Given the description of an element on the screen output the (x, y) to click on. 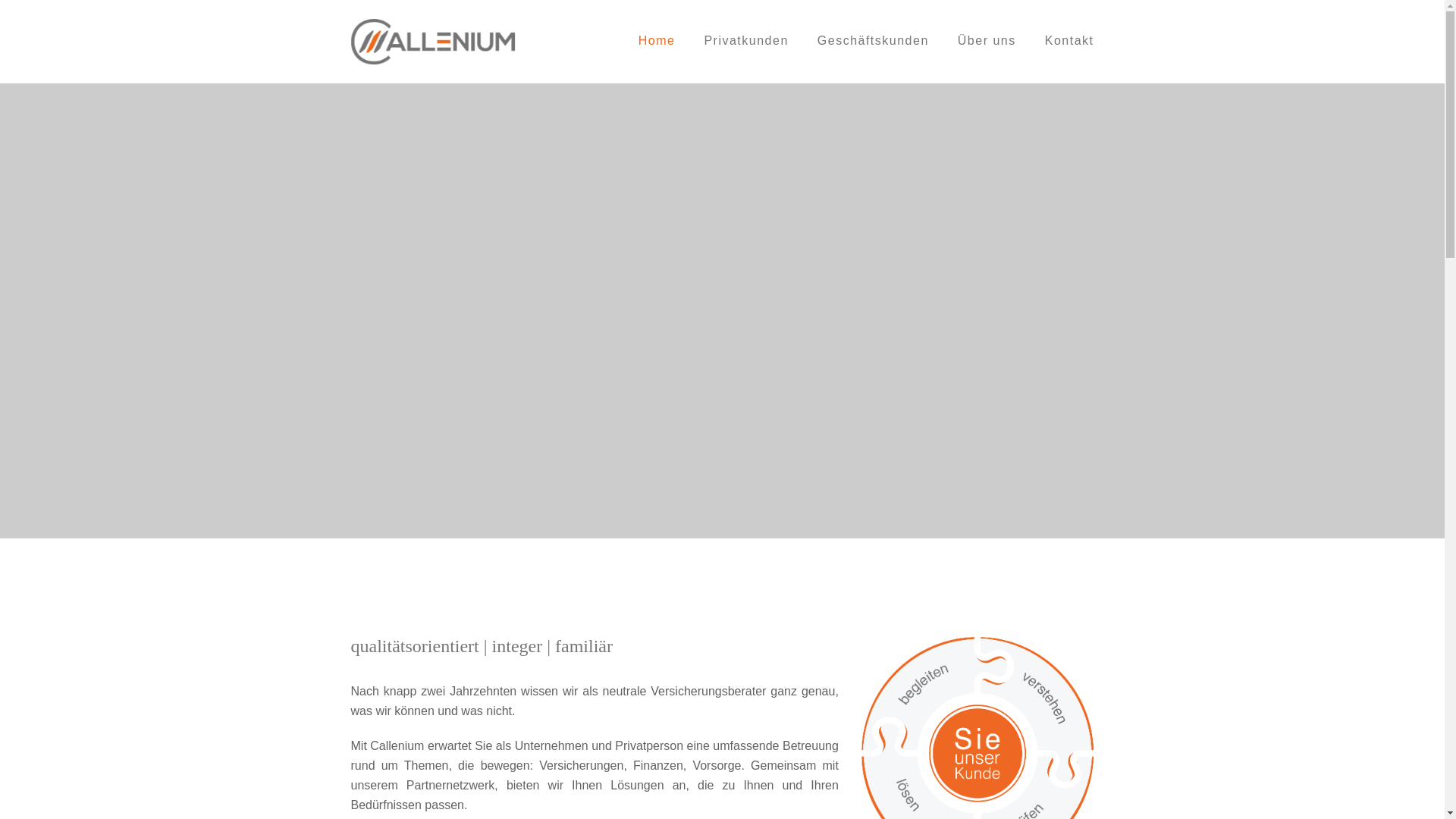
Privatkunden Element type: text (745, 41)
Home Element type: text (657, 41)
Kontakt Element type: text (1069, 41)
